Given the description of an element on the screen output the (x, y) to click on. 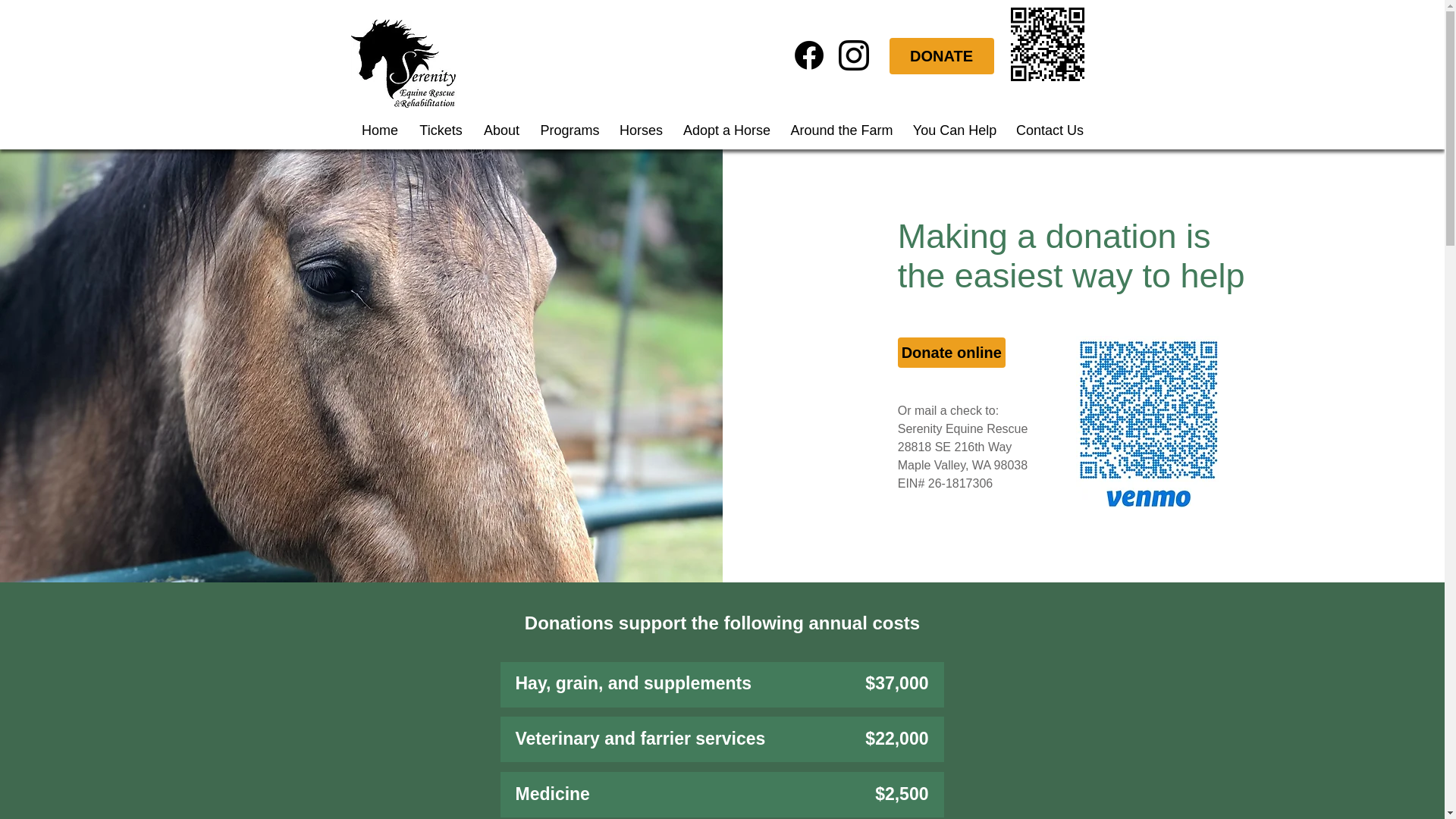
Tickets (441, 130)
Donate online (952, 352)
DONATE (940, 55)
Contact Us (1050, 130)
About (502, 130)
Home (379, 130)
